Given the description of an element on the screen output the (x, y) to click on. 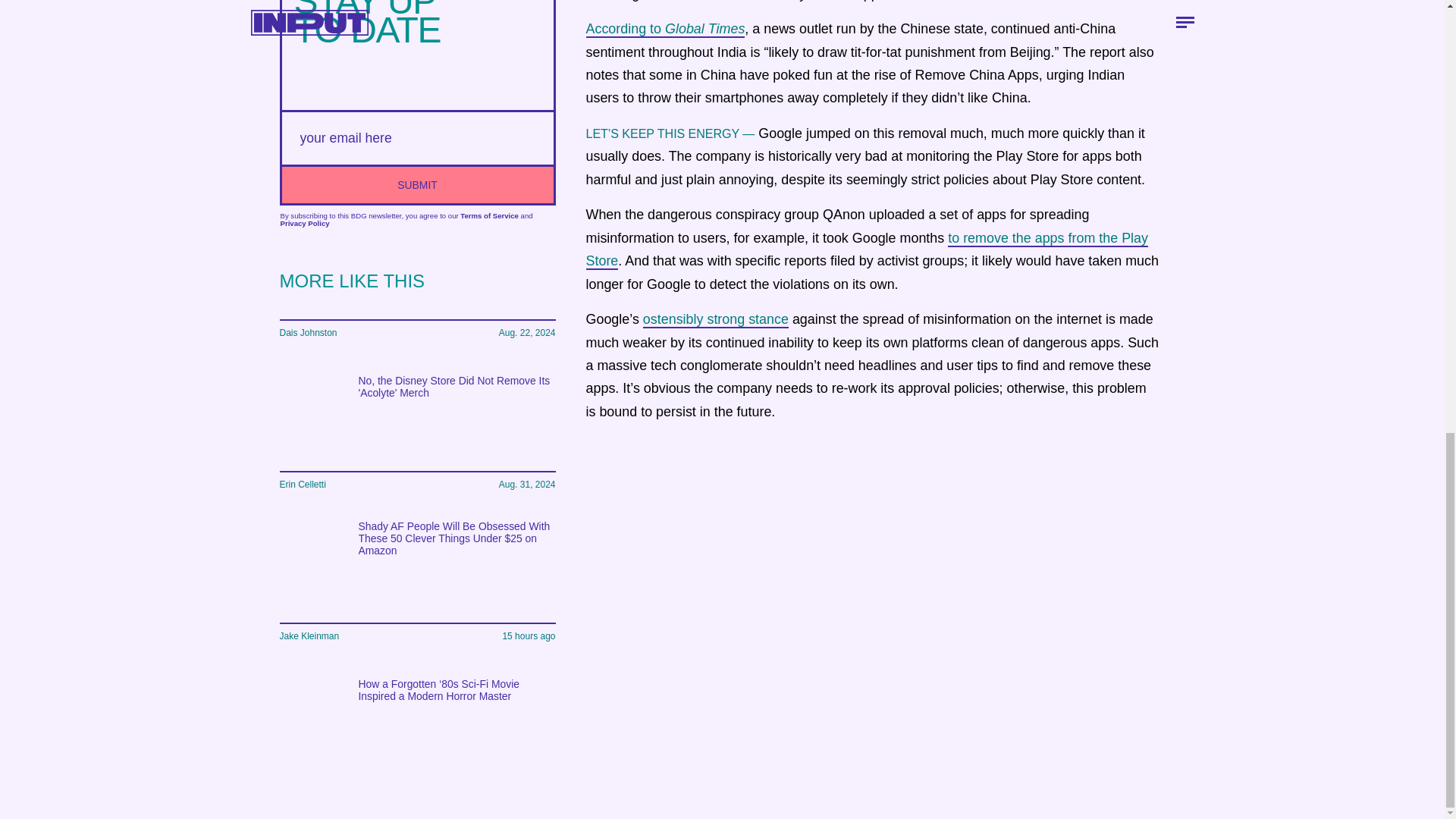
SUBMIT (417, 183)
Terms of Service (489, 215)
ostensibly strong stance (716, 320)
According to Global Times (664, 29)
Privacy Policy (305, 223)
to remove the apps from the Play Store (866, 250)
